Given the description of an element on the screen output the (x, y) to click on. 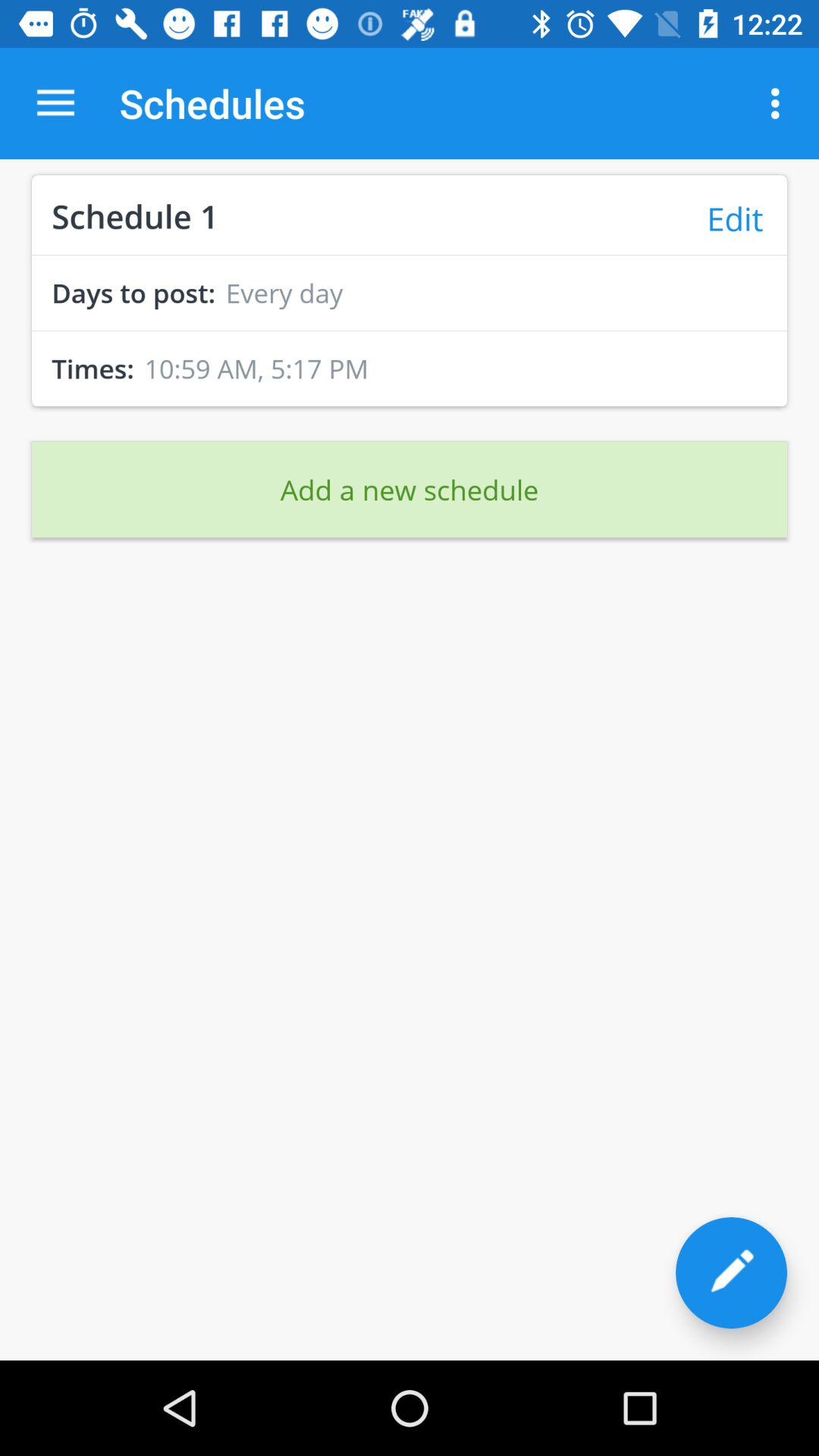
launch the every day item (283, 292)
